Given the description of an element on the screen output the (x, y) to click on. 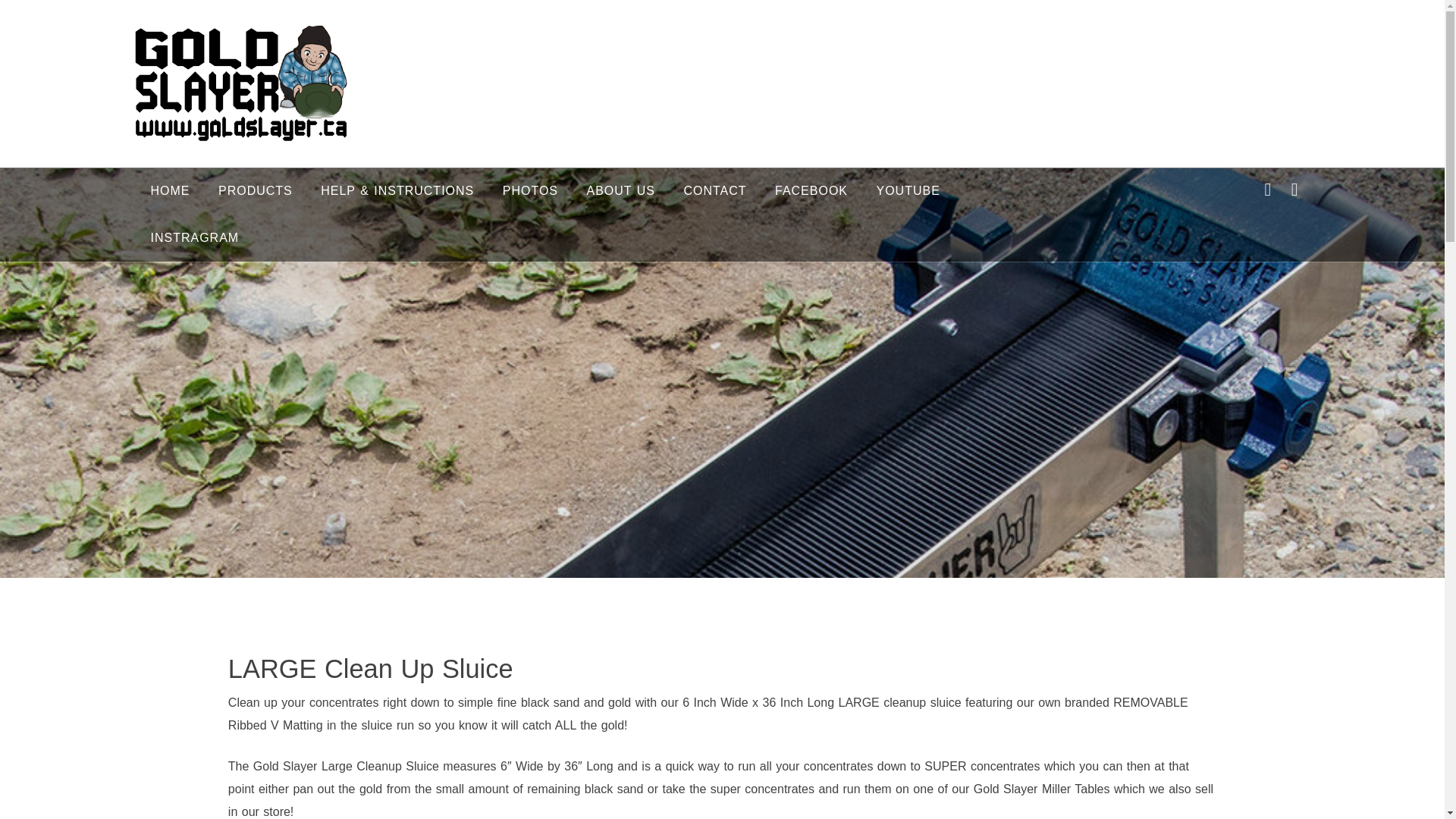
INSTRAGRAM (194, 237)
PRODUCTS (255, 190)
HOME (170, 190)
PHOTOS (530, 190)
ABOUT US (619, 190)
CONTACT (714, 190)
YOUTUBE (907, 190)
FACEBOOK (811, 190)
